Given the description of an element on the screen output the (x, y) to click on. 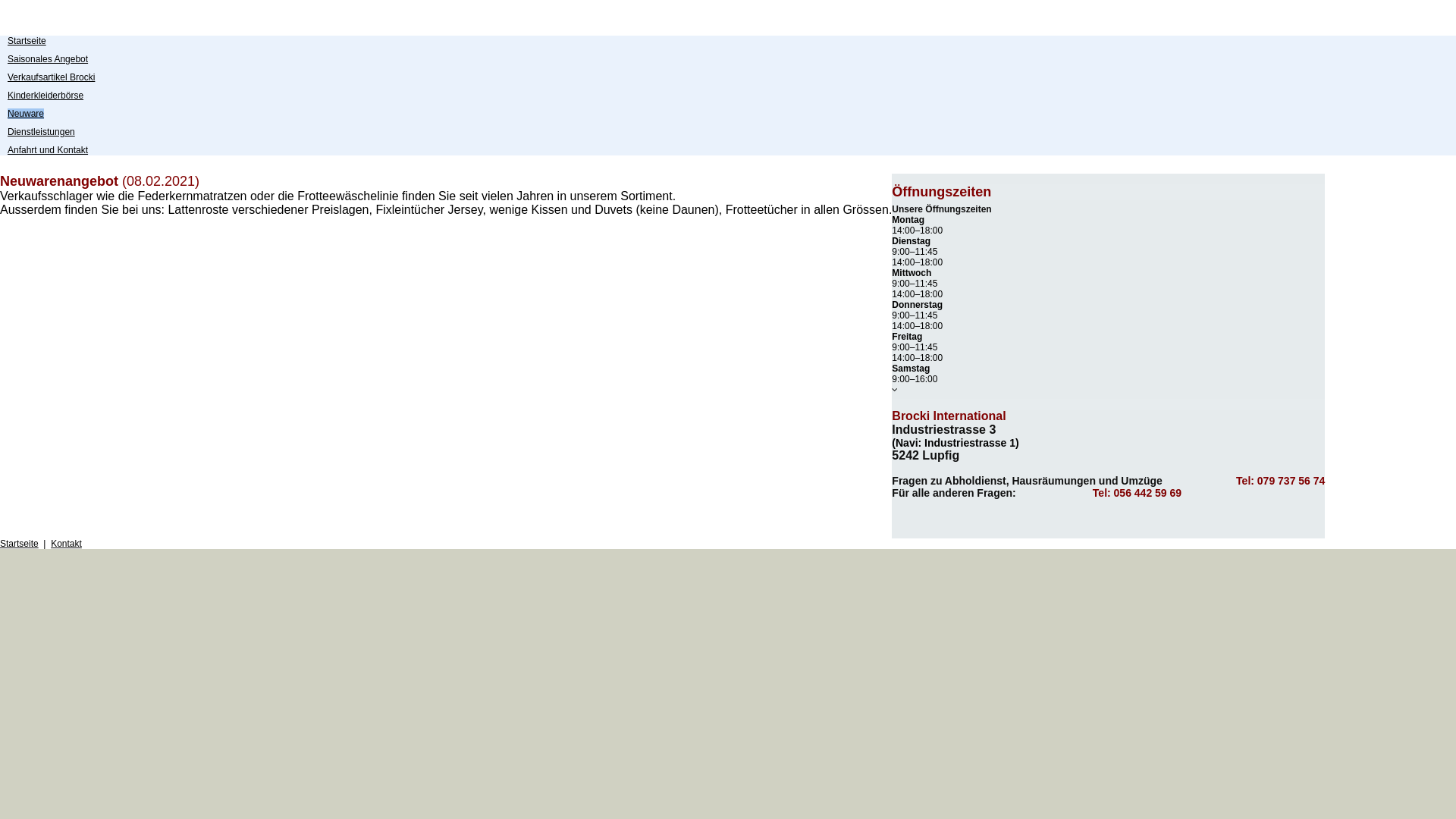
Startseite Element type: text (26, 40)
Startseite Element type: text (19, 543)
Saisonales Angebot Element type: text (47, 58)
Dienstleistungen Element type: text (41, 131)
Verkaufsartikel Brocki Element type: text (50, 77)
Kontakt Element type: text (65, 543)
Anfahrt und Kontakt Element type: text (47, 149)
Neuware Element type: text (25, 113)
